Given the description of an element on the screen output the (x, y) to click on. 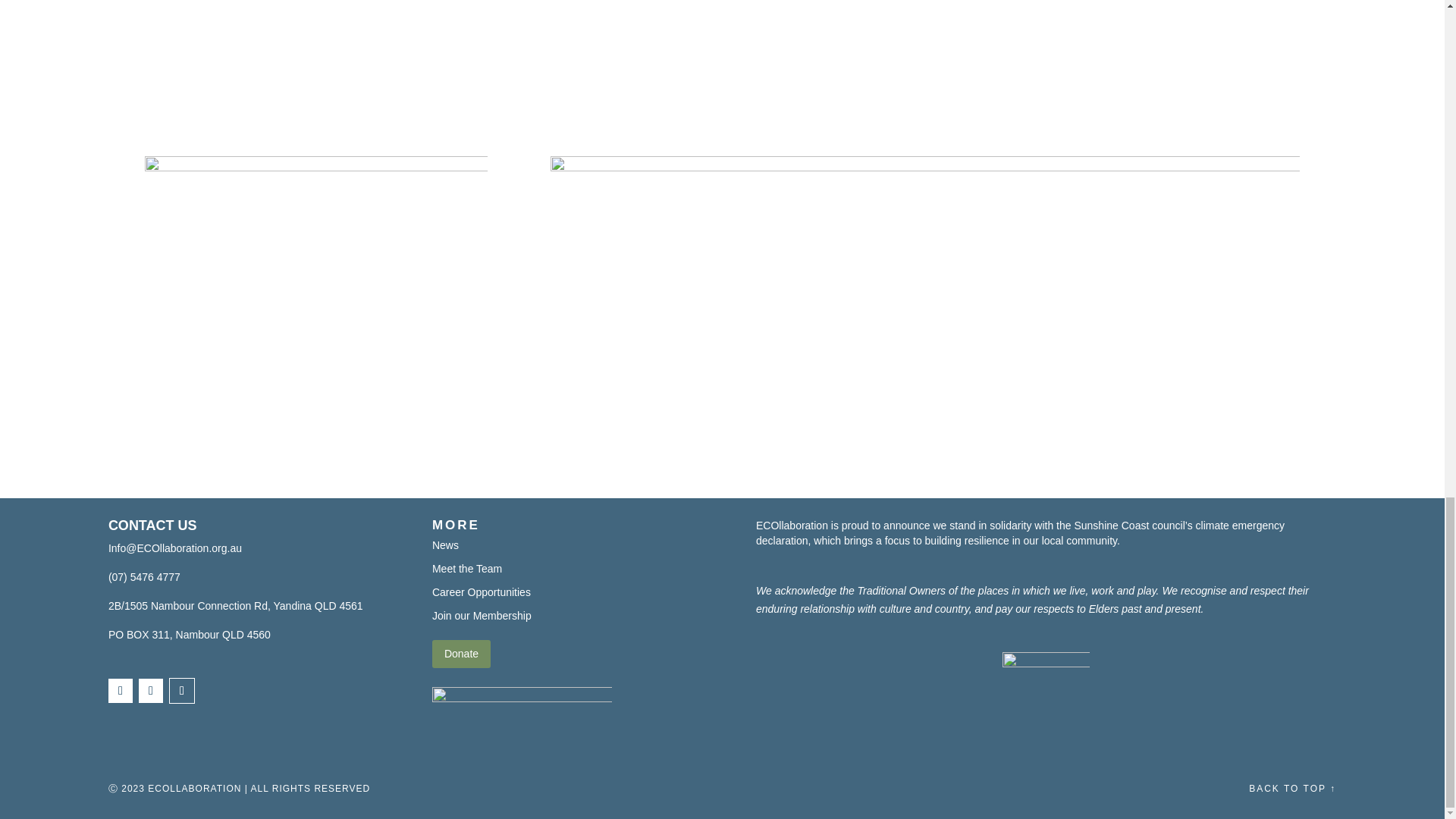
Join our Membership (481, 615)
News (445, 544)
Join our Membership (481, 615)
Follow on LinkedIn (181, 690)
River Patrol - ECOllaboration2 (315, 284)
Follow on Instagram (150, 690)
Career Opportunities (481, 592)
Follow on Facebook (119, 690)
River Patrol - ECOllaboration3 (315, 54)
